Given the description of an element on the screen output the (x, y) to click on. 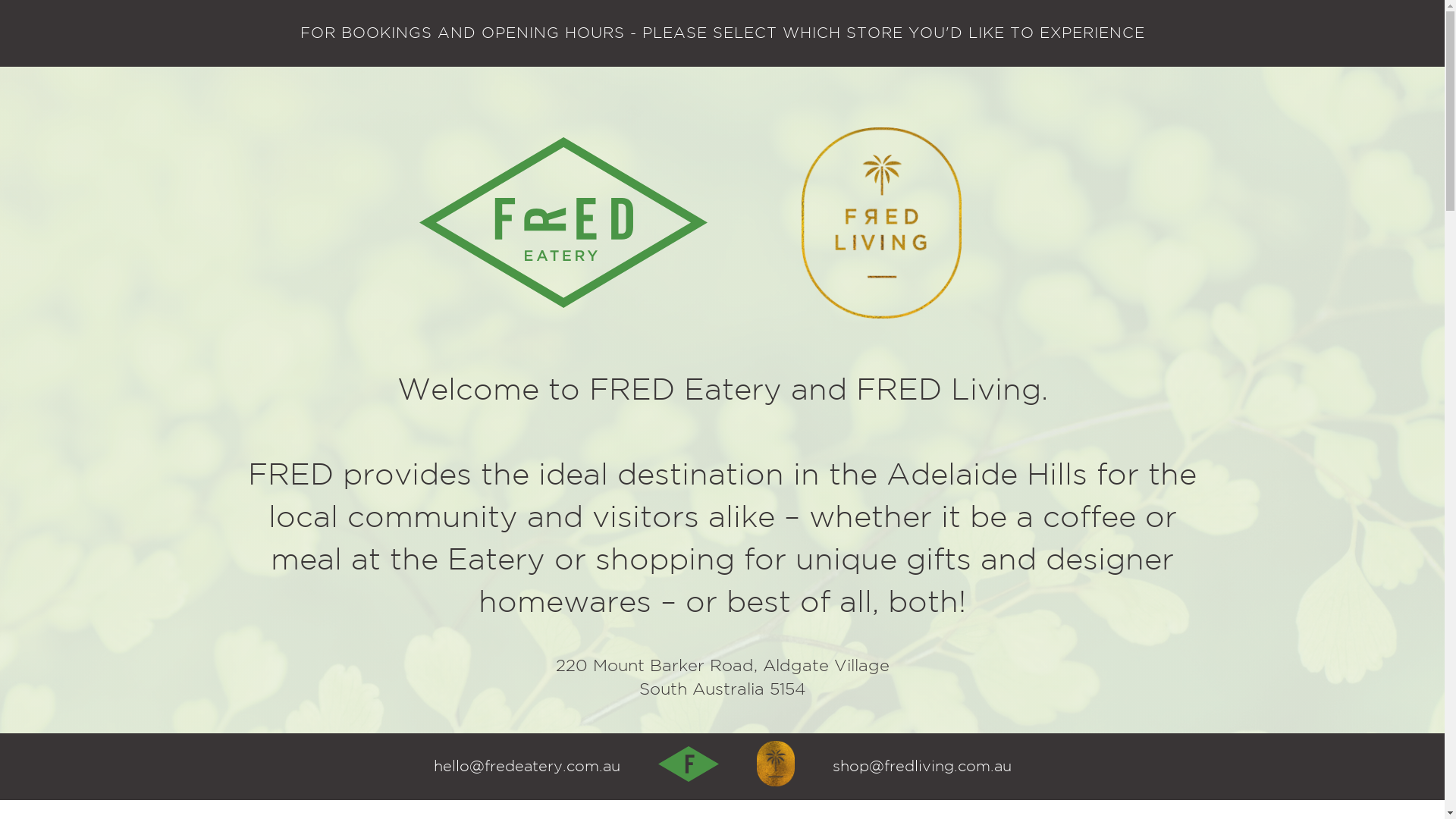
shop@fredliving.com.au Element type: text (921, 766)
hello@fredeatery.com.au Element type: text (526, 766)
